Given the description of an element on the screen output the (x, y) to click on. 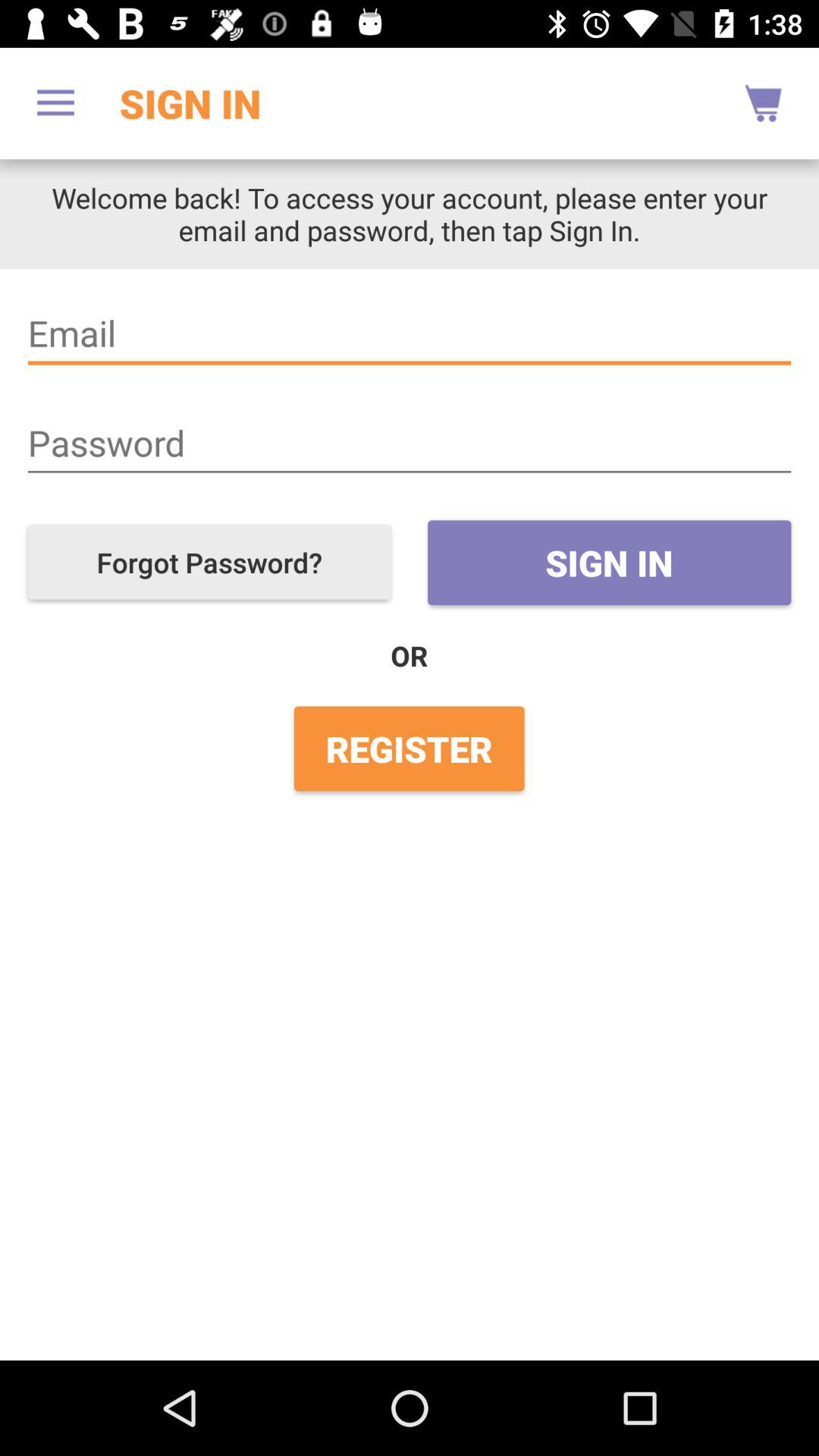
tap forgot password? (209, 562)
